Given the description of an element on the screen output the (x, y) to click on. 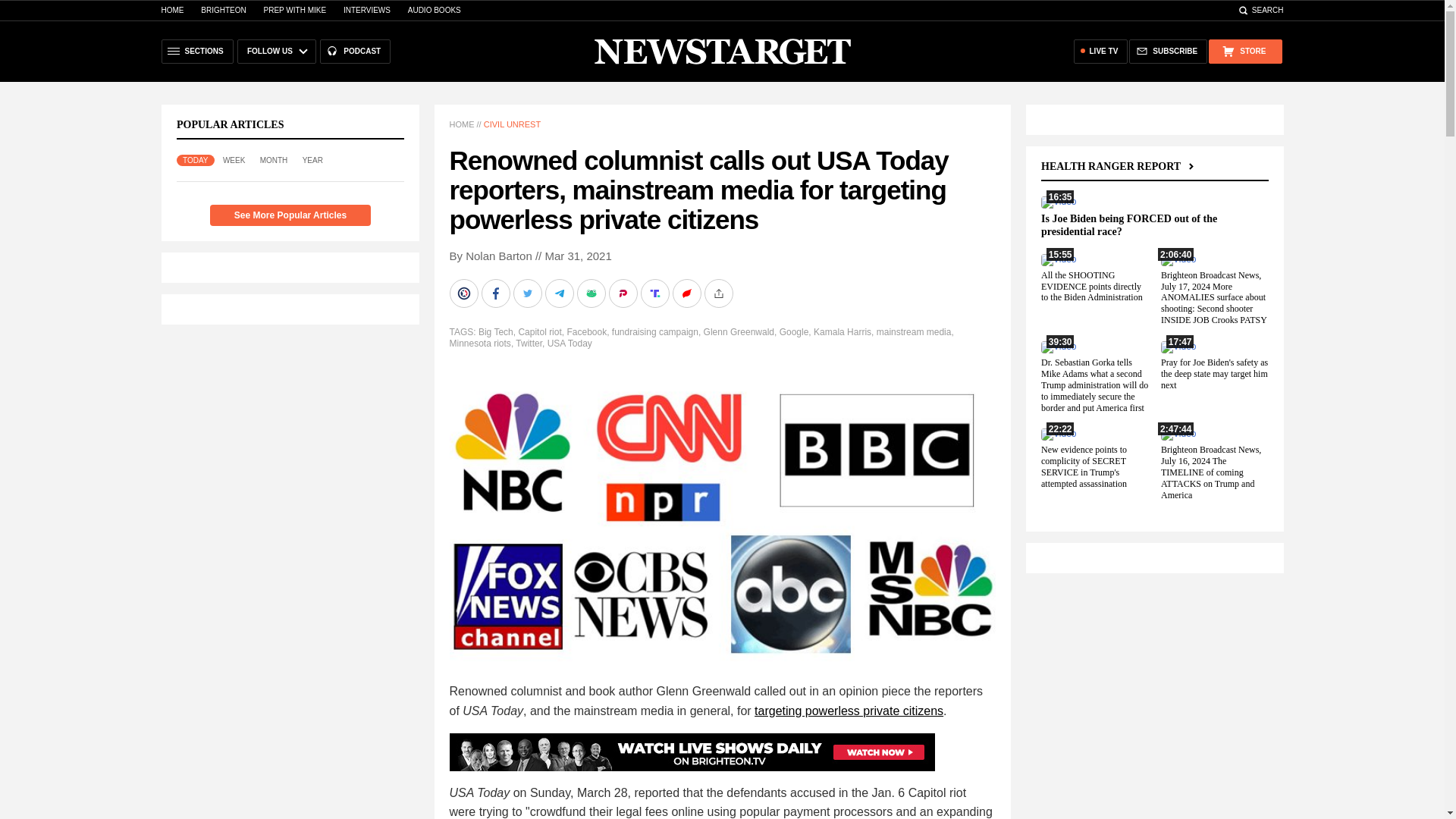
PREP WITH MIKE (294, 9)
Share on Twitter (528, 293)
17:47 (1177, 346)
HEALTH RANGER REPORT (1119, 165)
Big Tech (496, 331)
See More Popular Articles (289, 215)
By Nolan Barton (489, 255)
CIVIL UNREST (511, 123)
INTERVIEWS (366, 9)
HOME (461, 123)
Share on Brighteon.Social (464, 293)
Share on Facebook (496, 293)
